Given the description of an element on the screen output the (x, y) to click on. 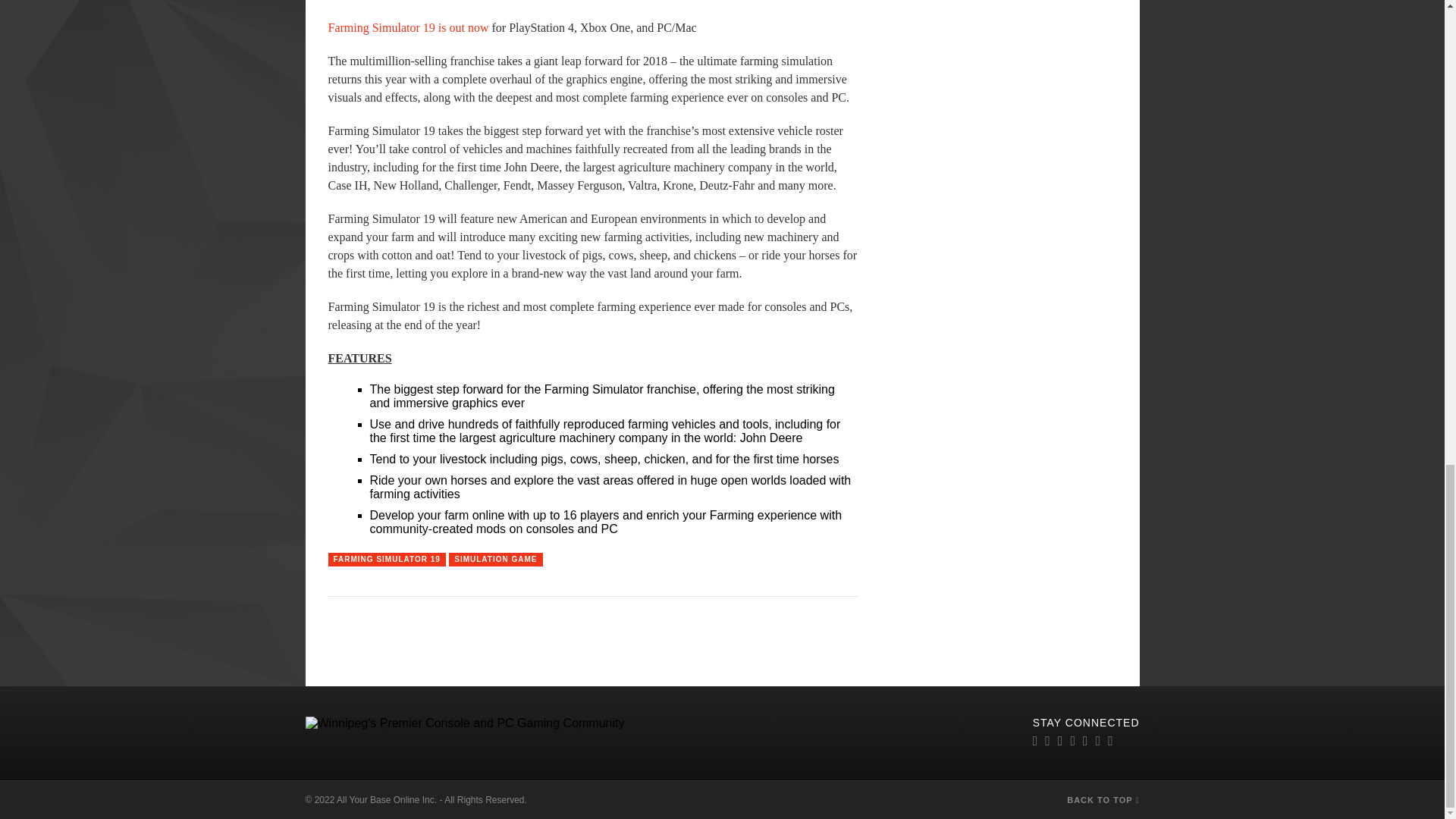
SIMULATION GAME (494, 559)
FARMING SIMULATOR 19 (386, 559)
Farming Simulator 19 is out now (407, 27)
